Given the description of an element on the screen output the (x, y) to click on. 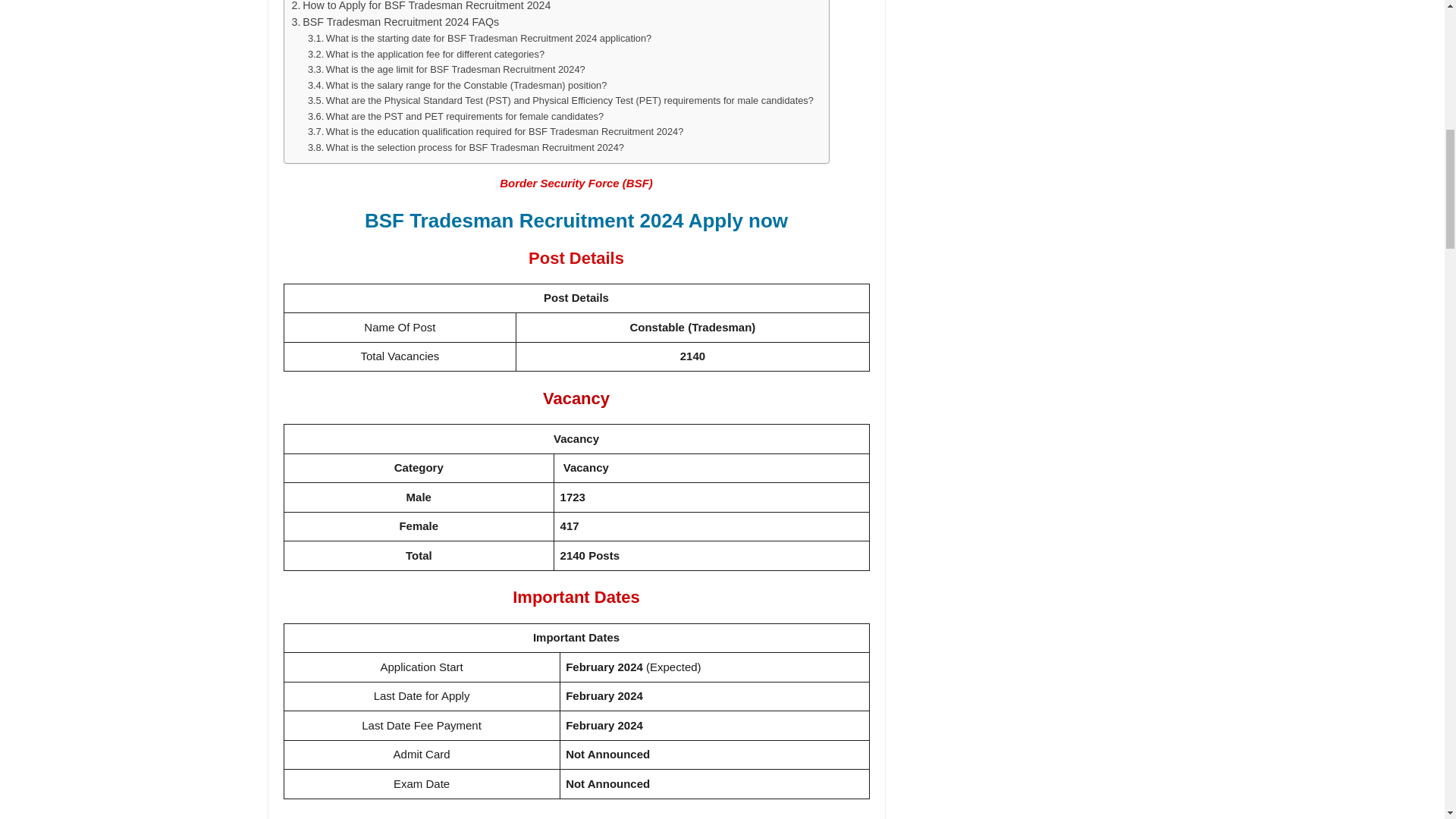
BSF Tradesman Recruitment 2024 FAQs (395, 22)
What is the application fee for different categories? (425, 54)
How to Apply for BSF Tradesman Recruitment 2024 (420, 7)
BSF Tradesman Recruitment 2024 FAQs (395, 22)
How to Apply for BSF Tradesman Recruitment 2024 (420, 7)
What is the age limit for BSF Tradesman Recruitment 2024? (446, 69)
